Given the description of an element on the screen output the (x, y) to click on. 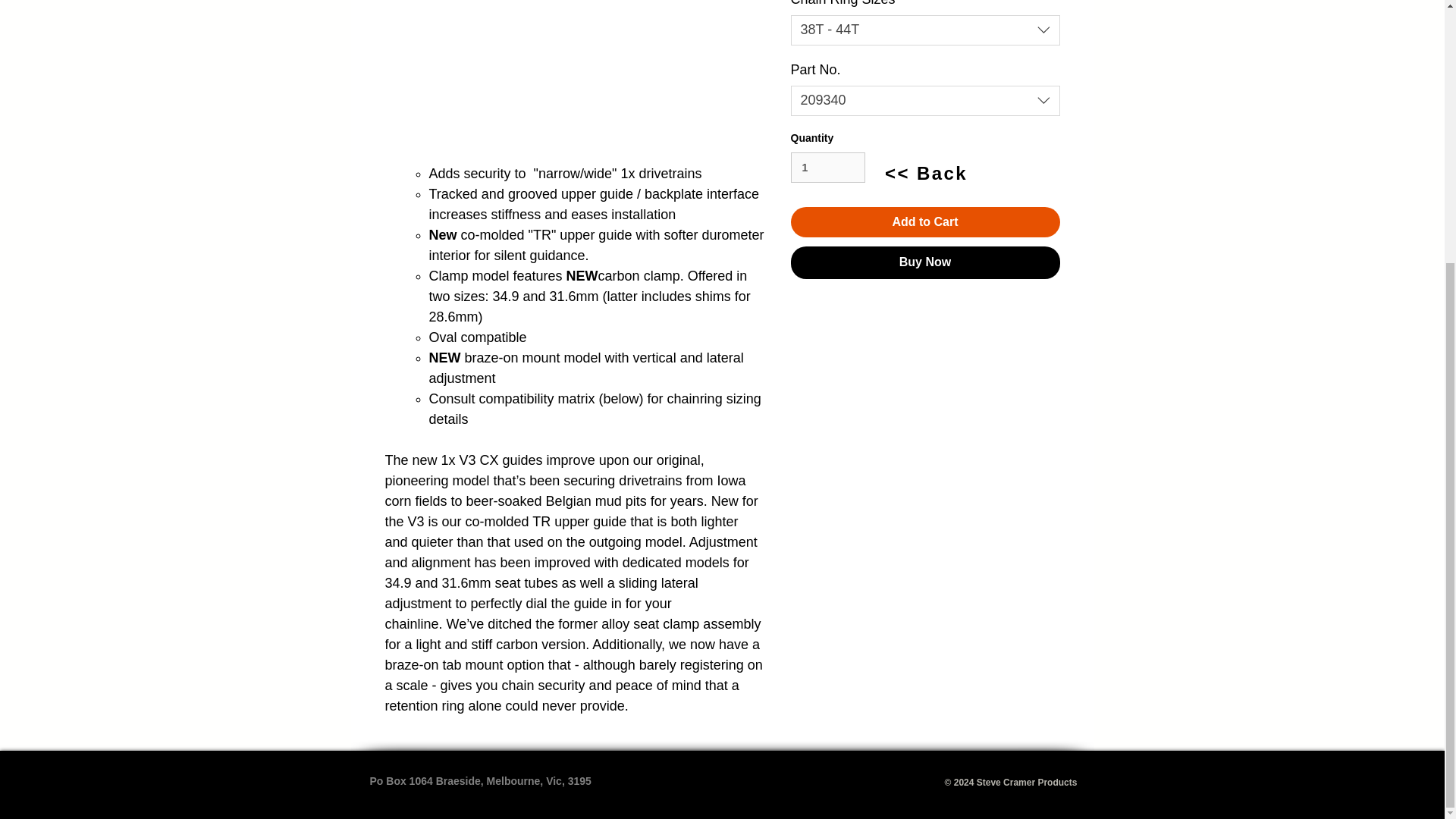
Buy Now (924, 262)
38T - 44T (924, 30)
1 (827, 167)
209340 (924, 100)
Add to Cart (924, 222)
